Given the description of an element on the screen output the (x, y) to click on. 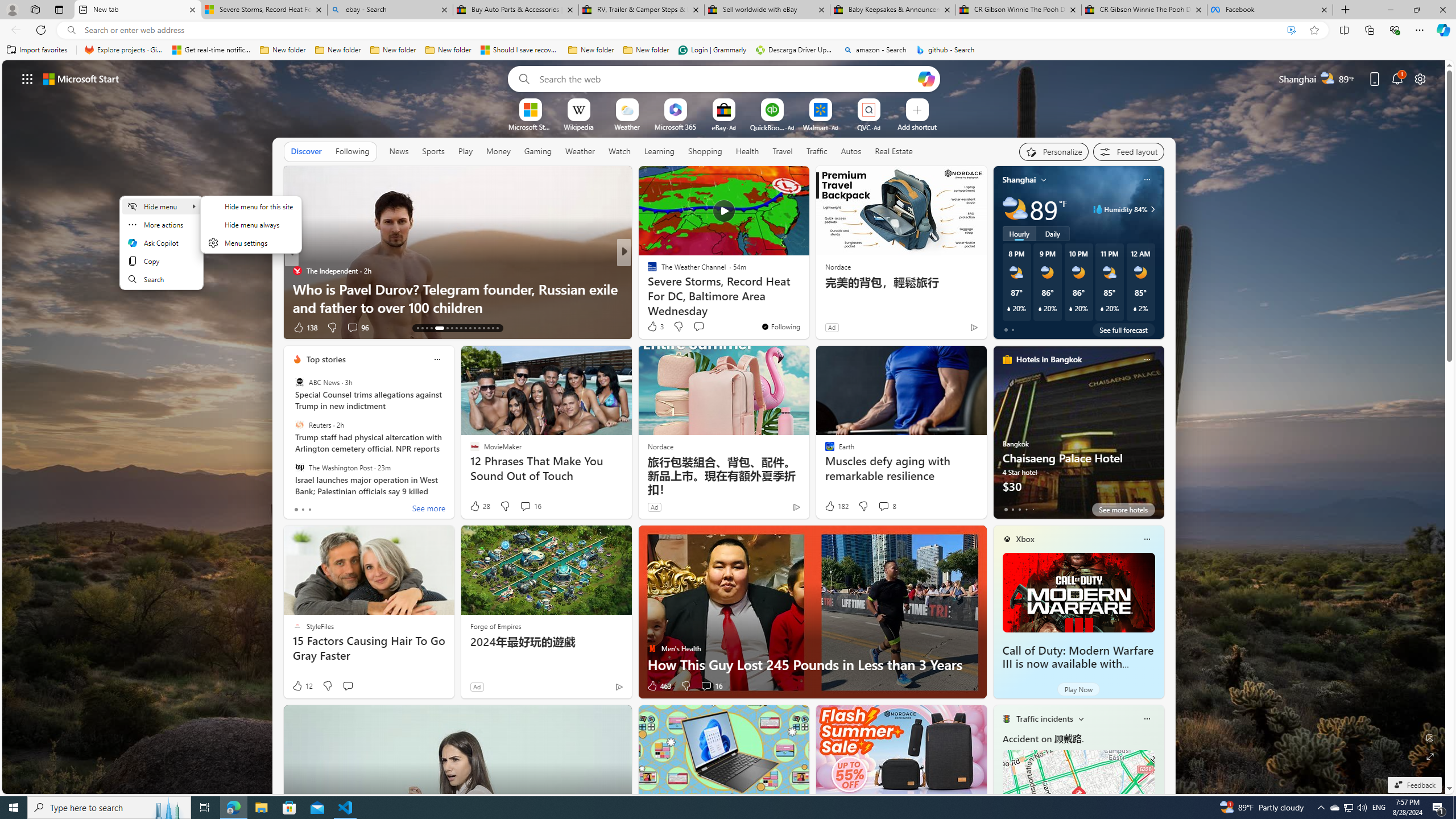
Should I save recovered Word documents? - Microsoft Support (519, 49)
AutomationID: tab-23 (470, 328)
More actions (160, 224)
Travel (782, 151)
View comments 16 Comment (705, 685)
Microsoft start (81, 78)
News (398, 151)
Hide menu (250, 231)
ABC News (299, 382)
AutomationID: tab-14 (422, 328)
AutomationID: tab-25 (478, 328)
13 Like (652, 327)
